Given the description of an element on the screen output the (x, y) to click on. 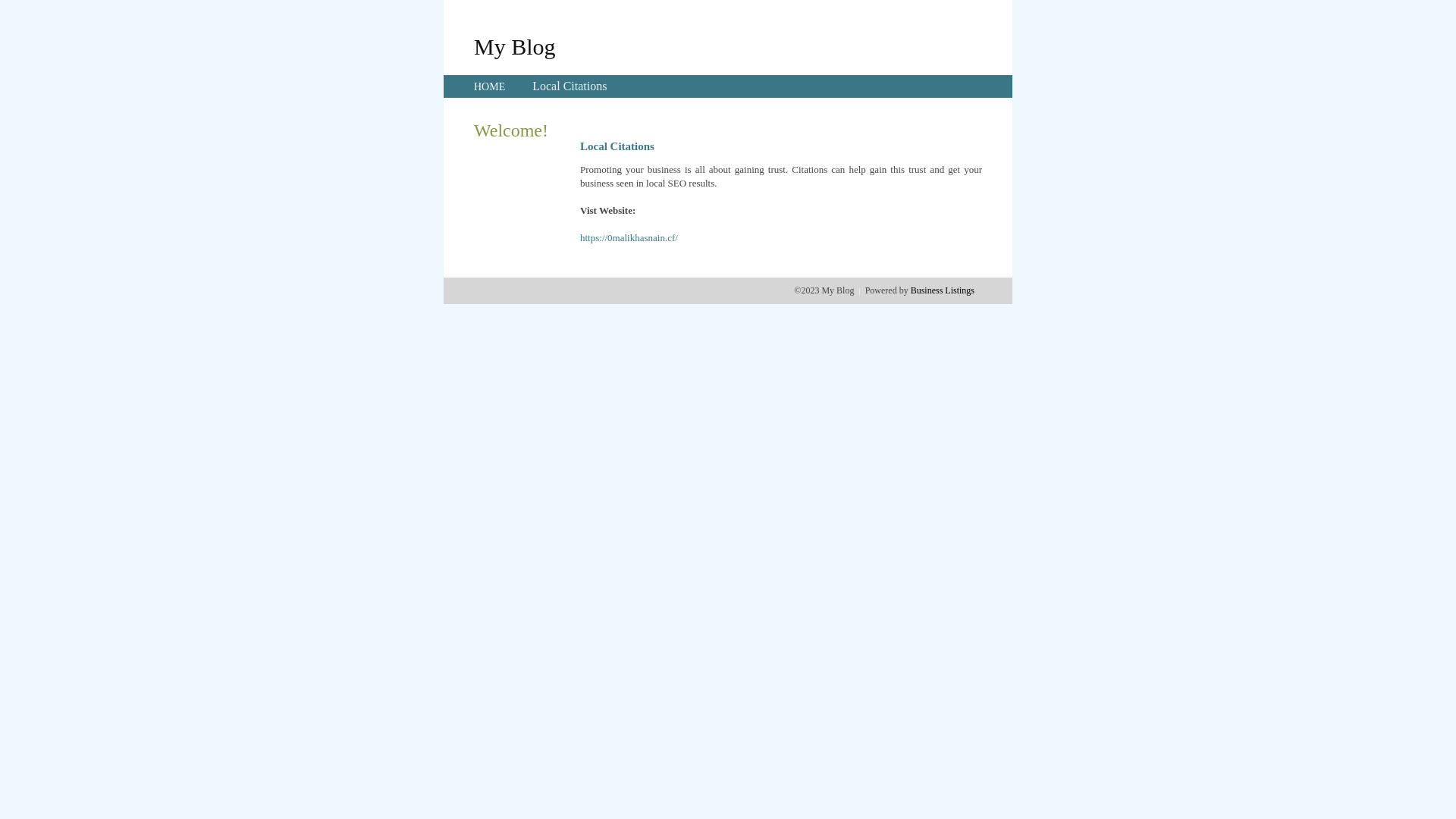
Local Citations Element type: text (569, 85)
My Blog Element type: text (514, 46)
https://0malikhasnain.cf/ Element type: text (628, 237)
Business Listings Element type: text (942, 290)
HOME Element type: text (489, 86)
